Given the description of an element on the screen output the (x, y) to click on. 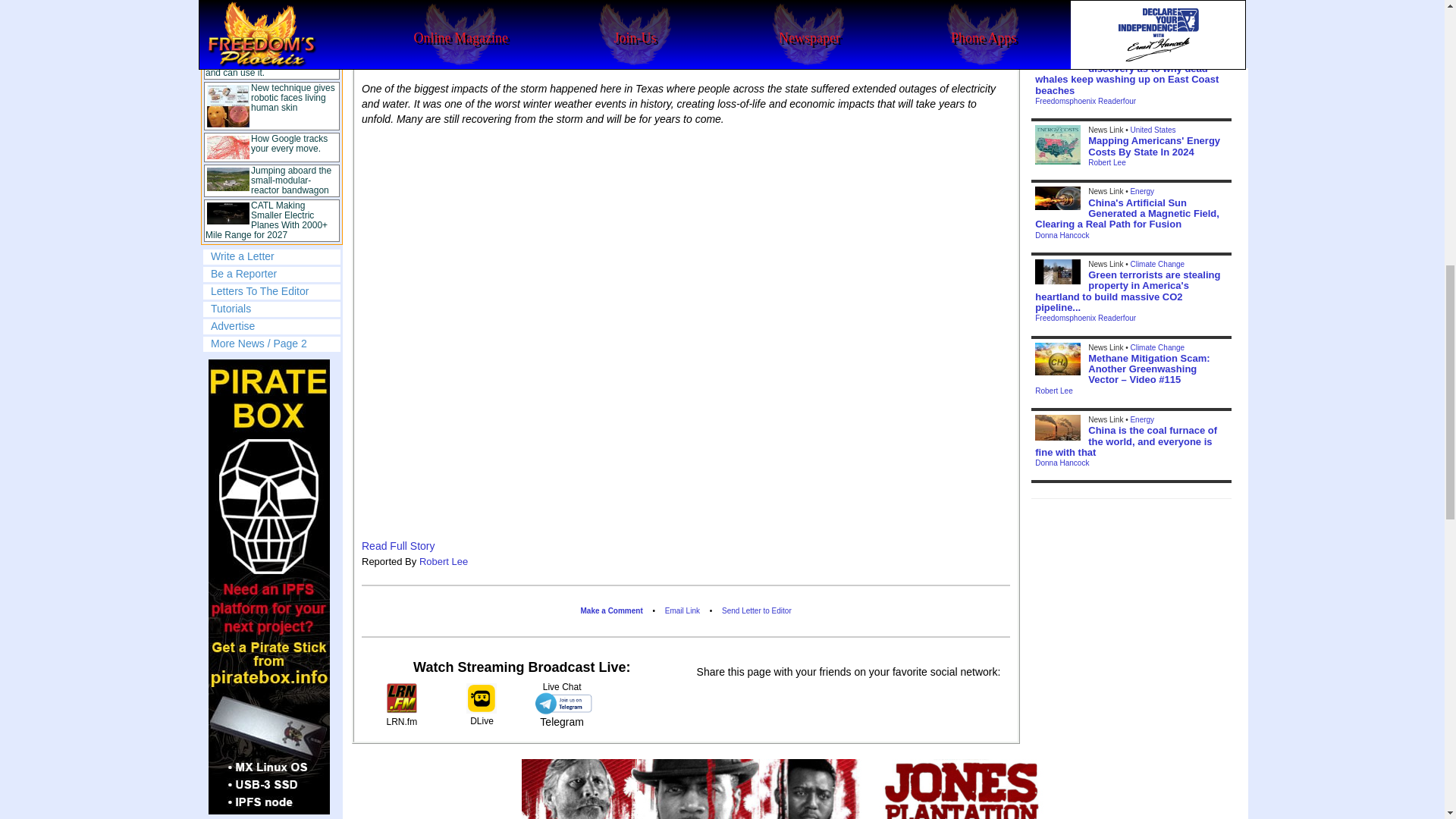
Top Links (271, 122)
